Given the description of an element on the screen output the (x, y) to click on. 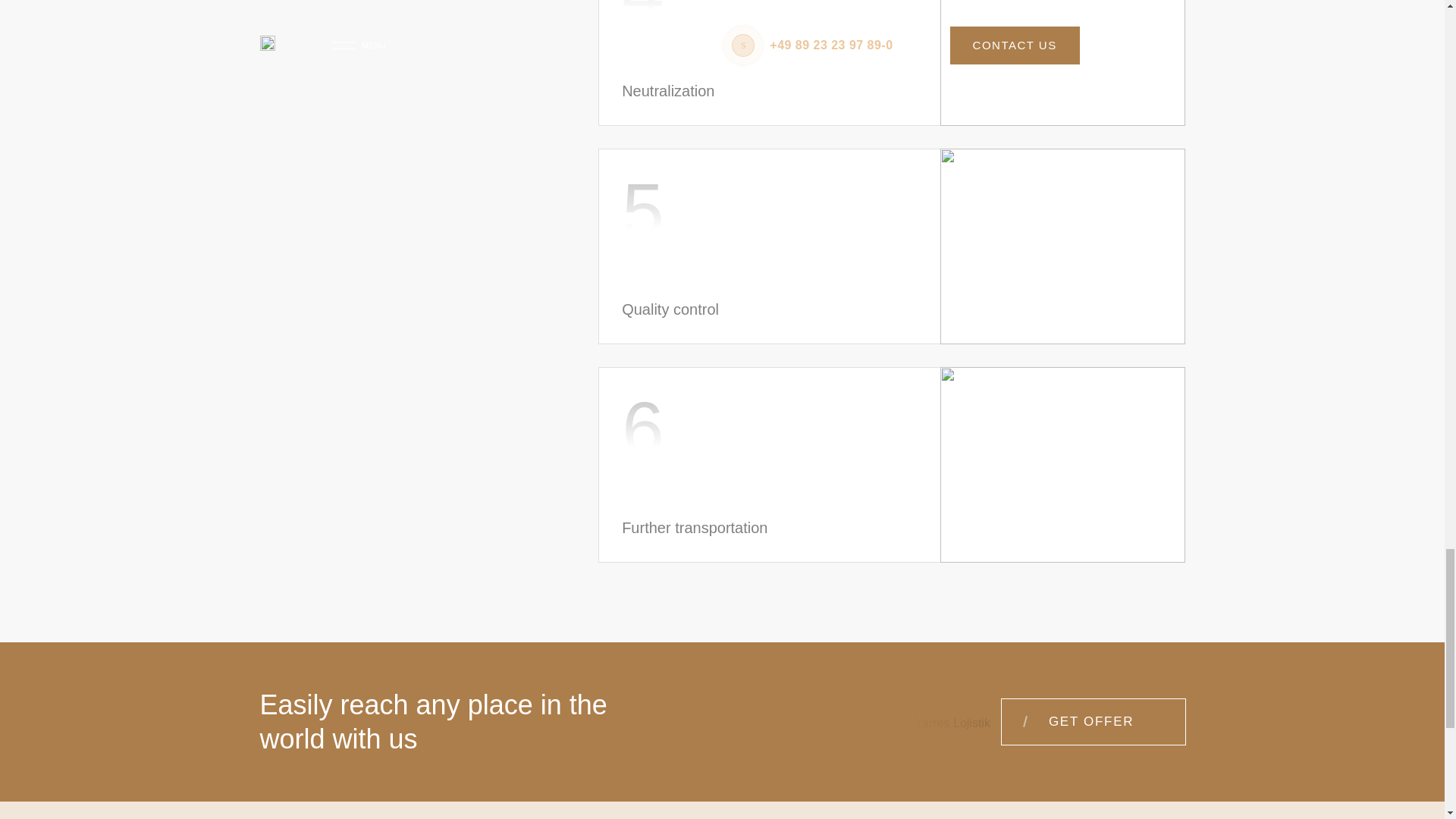
Yarres Lojistik (270, 723)
GET OFFER (1093, 721)
